Given the description of an element on the screen output the (x, y) to click on. 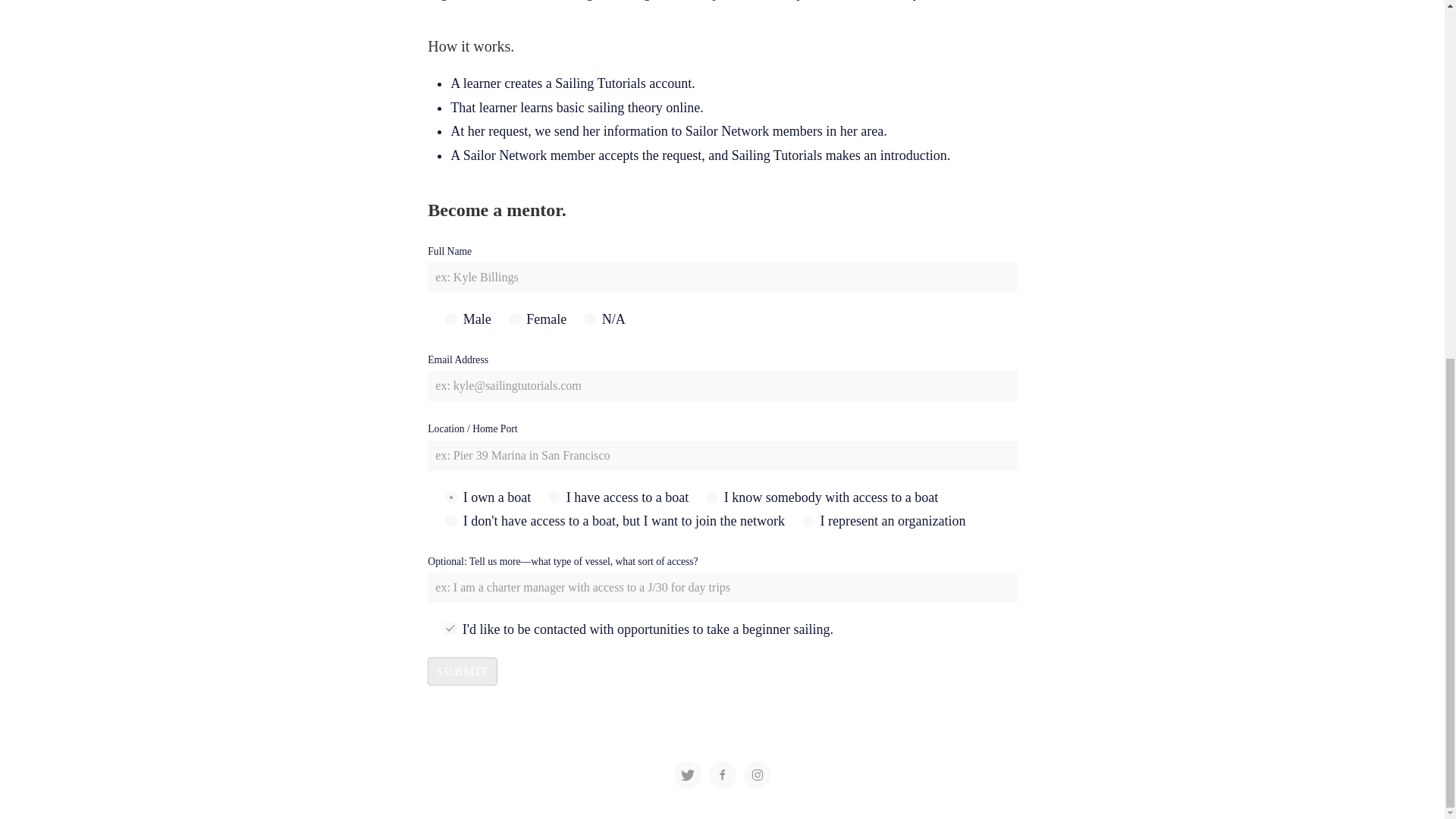
I have access to a boat (554, 497)
Submit (462, 671)
Female (514, 318)
I know somebody with access to a boat (711, 497)
I own a boat (451, 497)
I represent an organization (807, 521)
Male (451, 318)
Submit (462, 671)
